Given the description of an element on the screen output the (x, y) to click on. 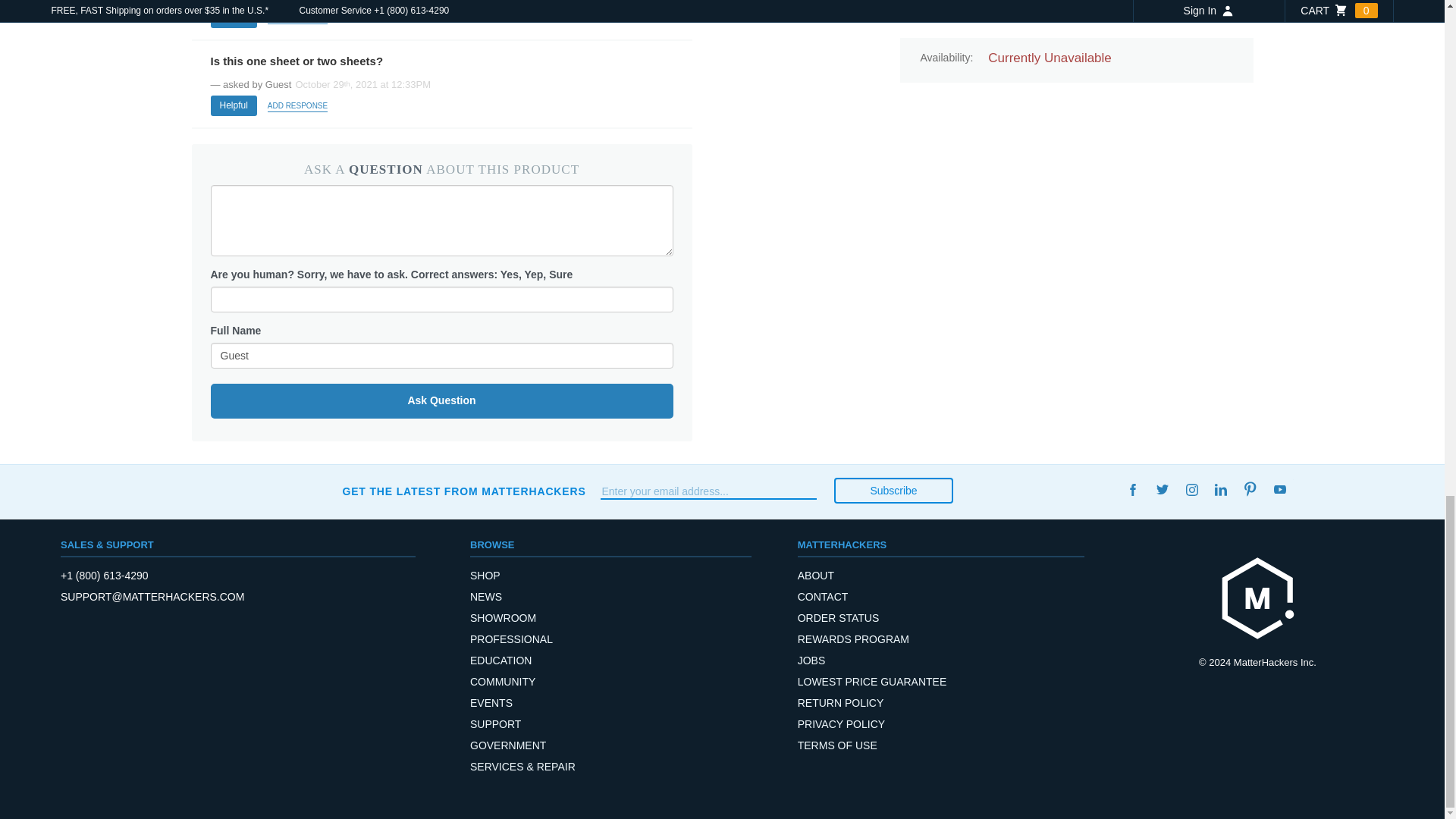
MatterHackers (1257, 597)
Guest (441, 355)
